Given the description of an element on the screen output the (x, y) to click on. 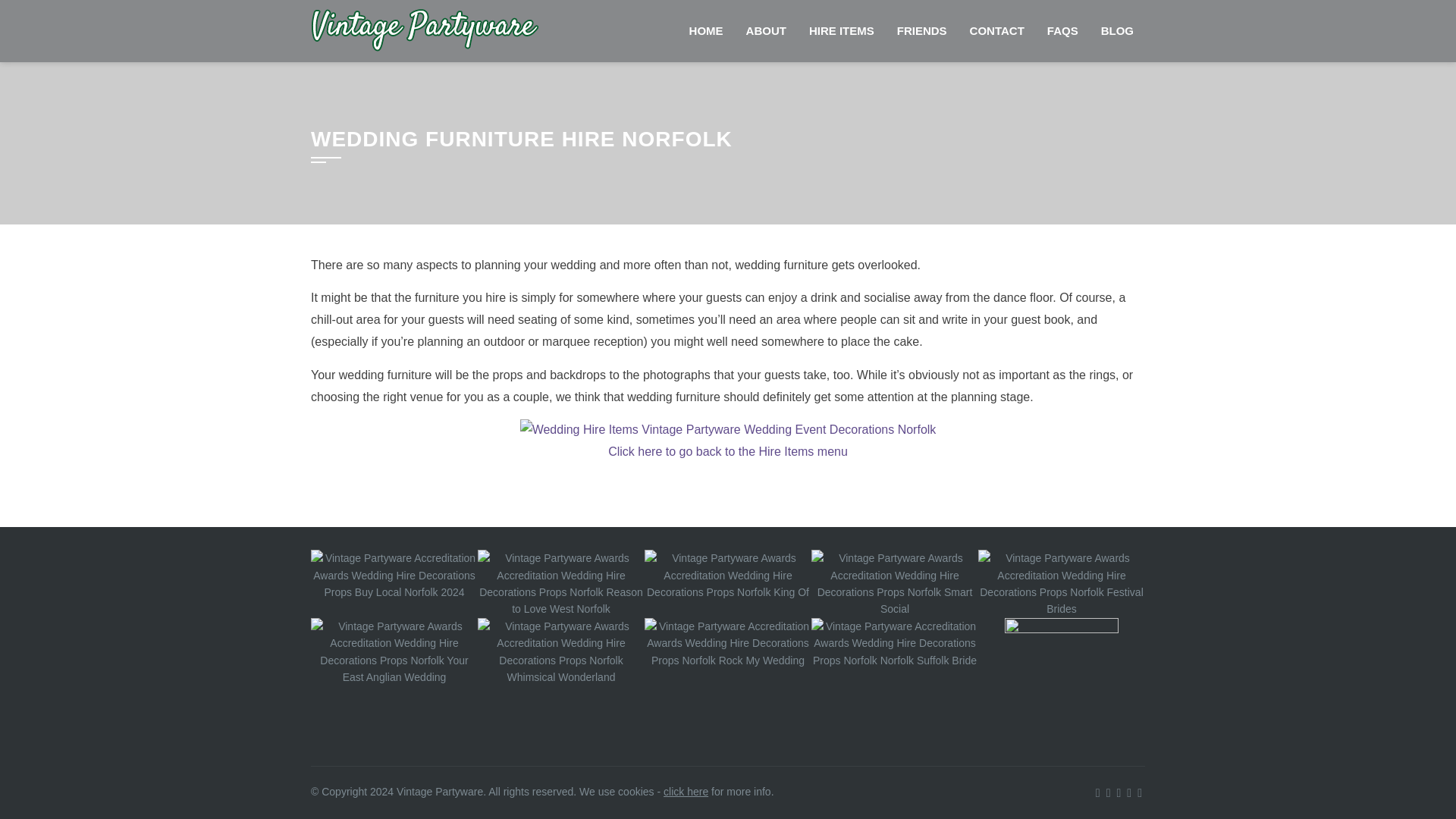
click here (685, 791)
FRIENDS (921, 31)
CONTACT (996, 31)
HIRE ITEMS (841, 31)
ABOUT (766, 31)
BLOG (1116, 31)
HOME (706, 31)
Click here to go back to the Hire Items menu (727, 451)
